Given the description of an element on the screen output the (x, y) to click on. 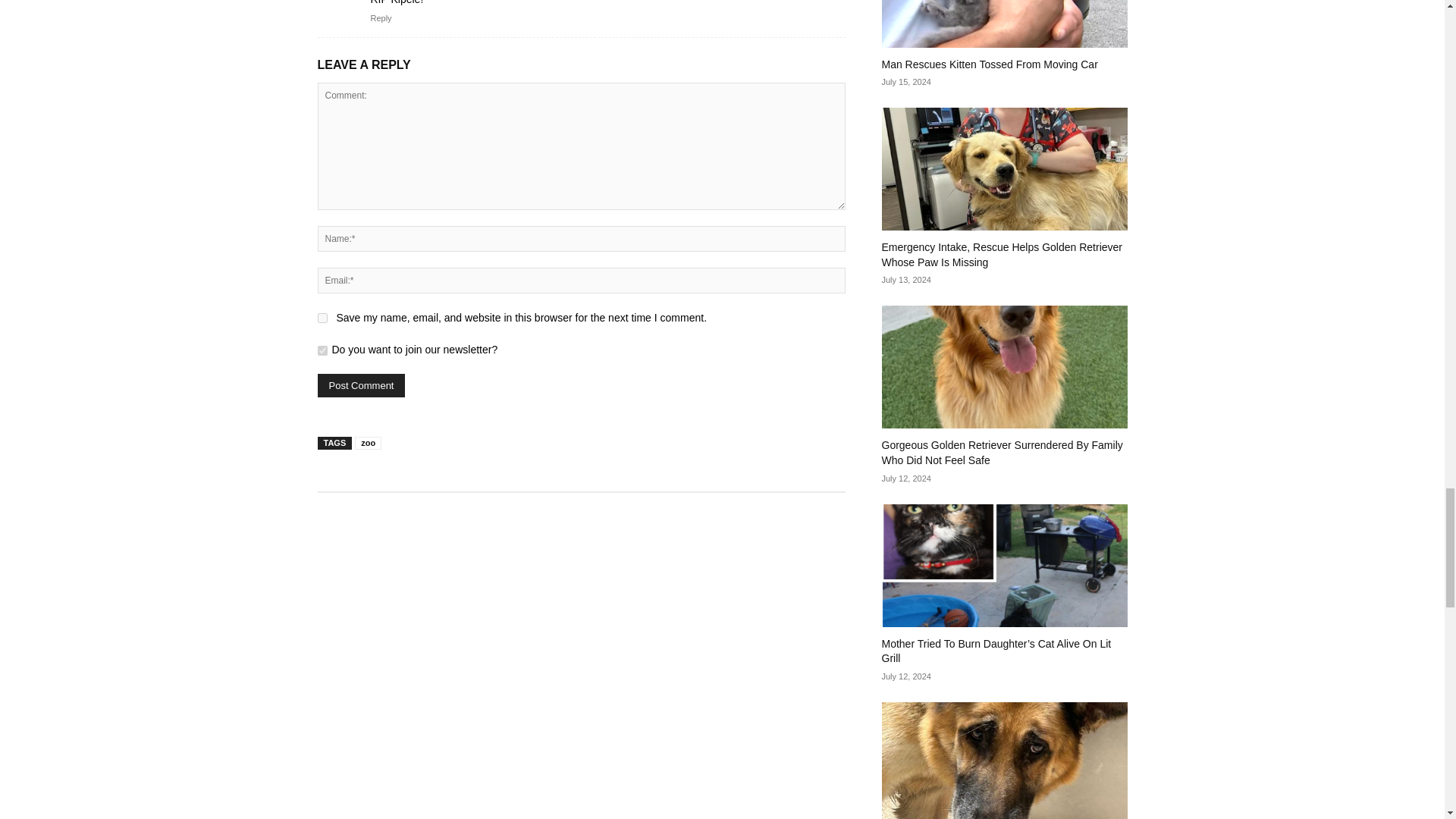
1 (321, 350)
yes (321, 317)
Post Comment (360, 385)
